Given the description of an element on the screen output the (x, y) to click on. 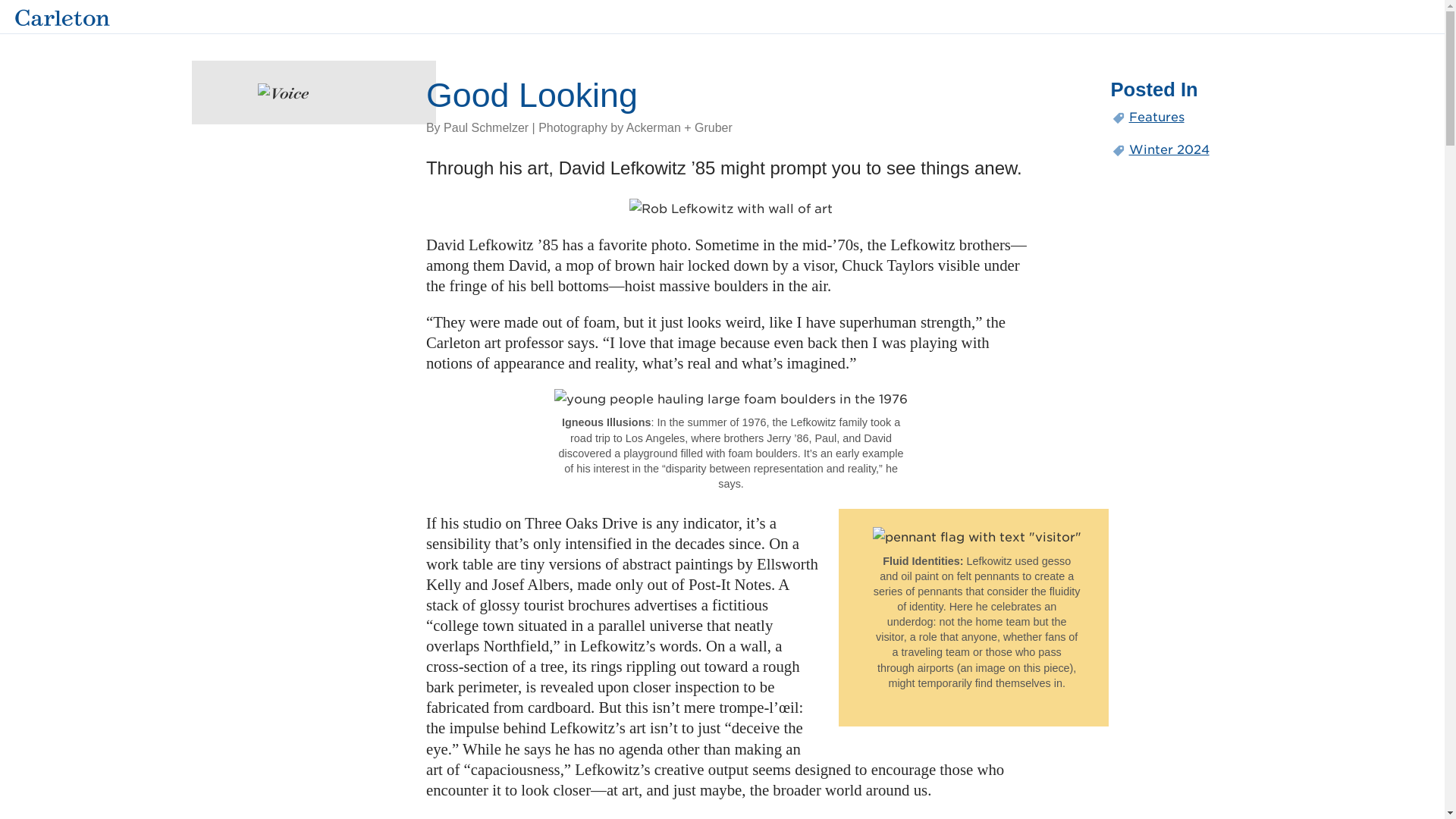
Winter 2024 (1178, 149)
Features (1178, 116)
